Given the description of an element on the screen output the (x, y) to click on. 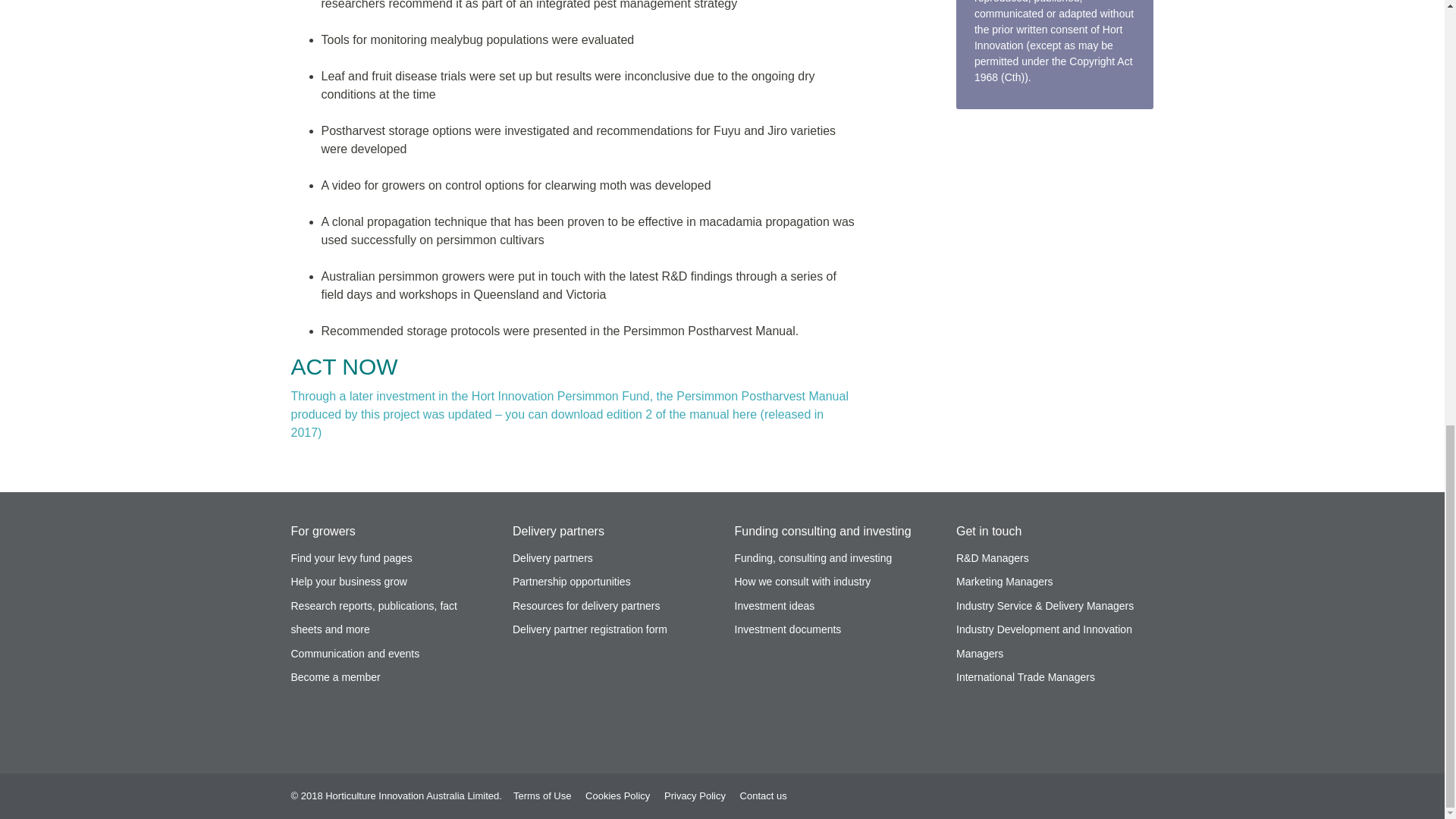
PR13007-persimmon-post-harvest-manual-edition-2-pdf.pdf (569, 413)
